Given the description of an element on the screen output the (x, y) to click on. 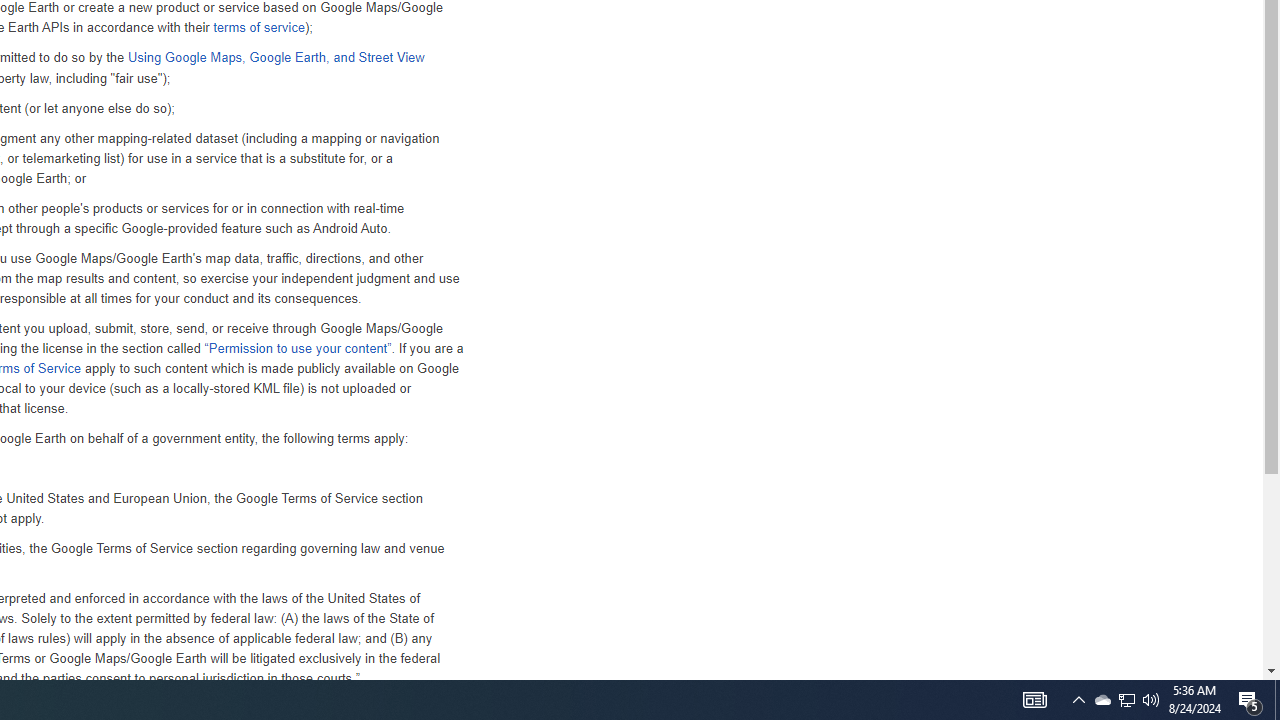
Using Google Maps, Google Earth, and Street View (275, 57)
terms of service (258, 28)
